Given the description of an element on the screen output the (x, y) to click on. 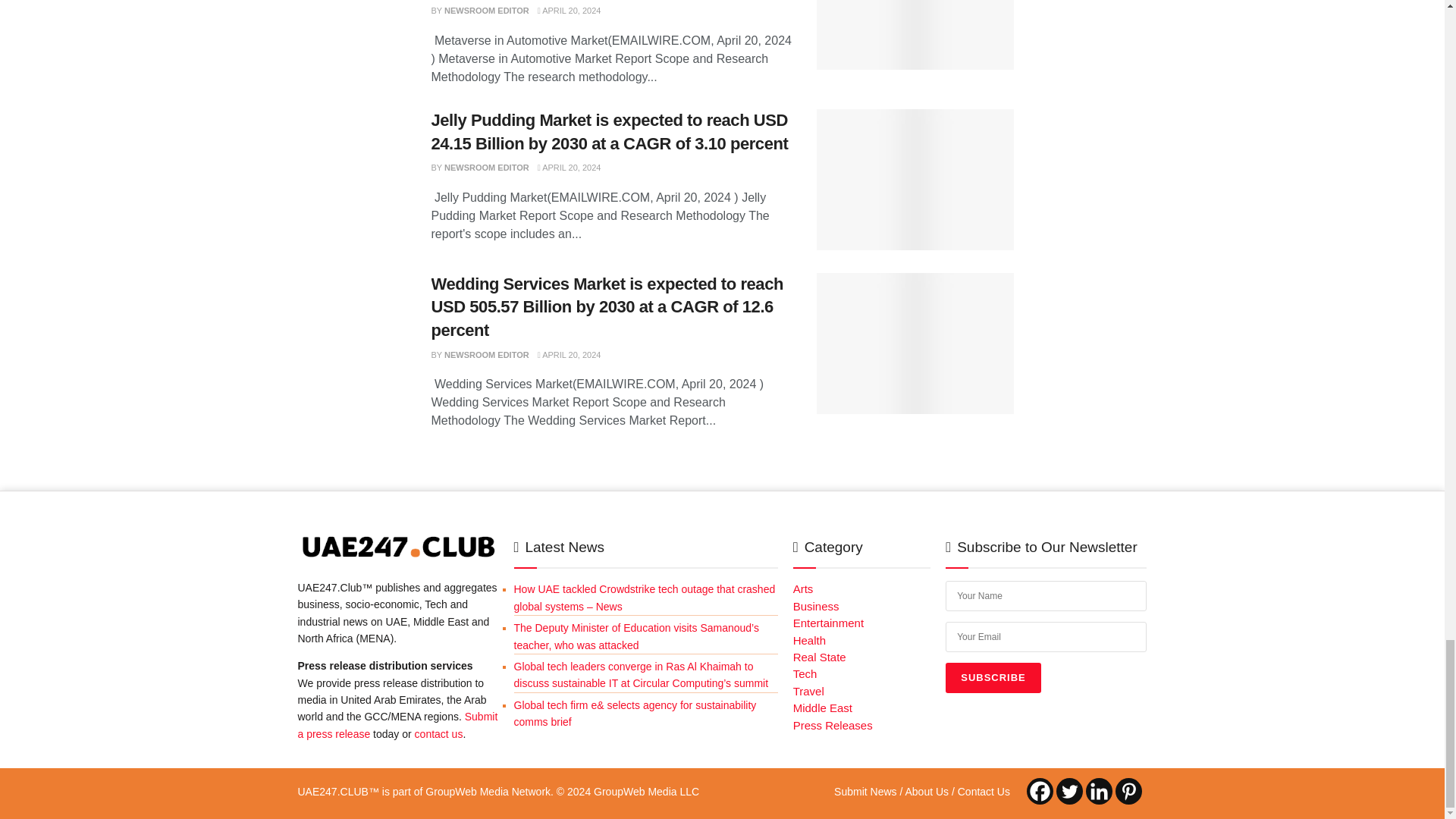
SUBSCRIBE (992, 677)
Facebook (1039, 791)
Pinterest (1128, 791)
Linkedin (1099, 791)
Twitter (1070, 791)
